Given the description of an element on the screen output the (x, y) to click on. 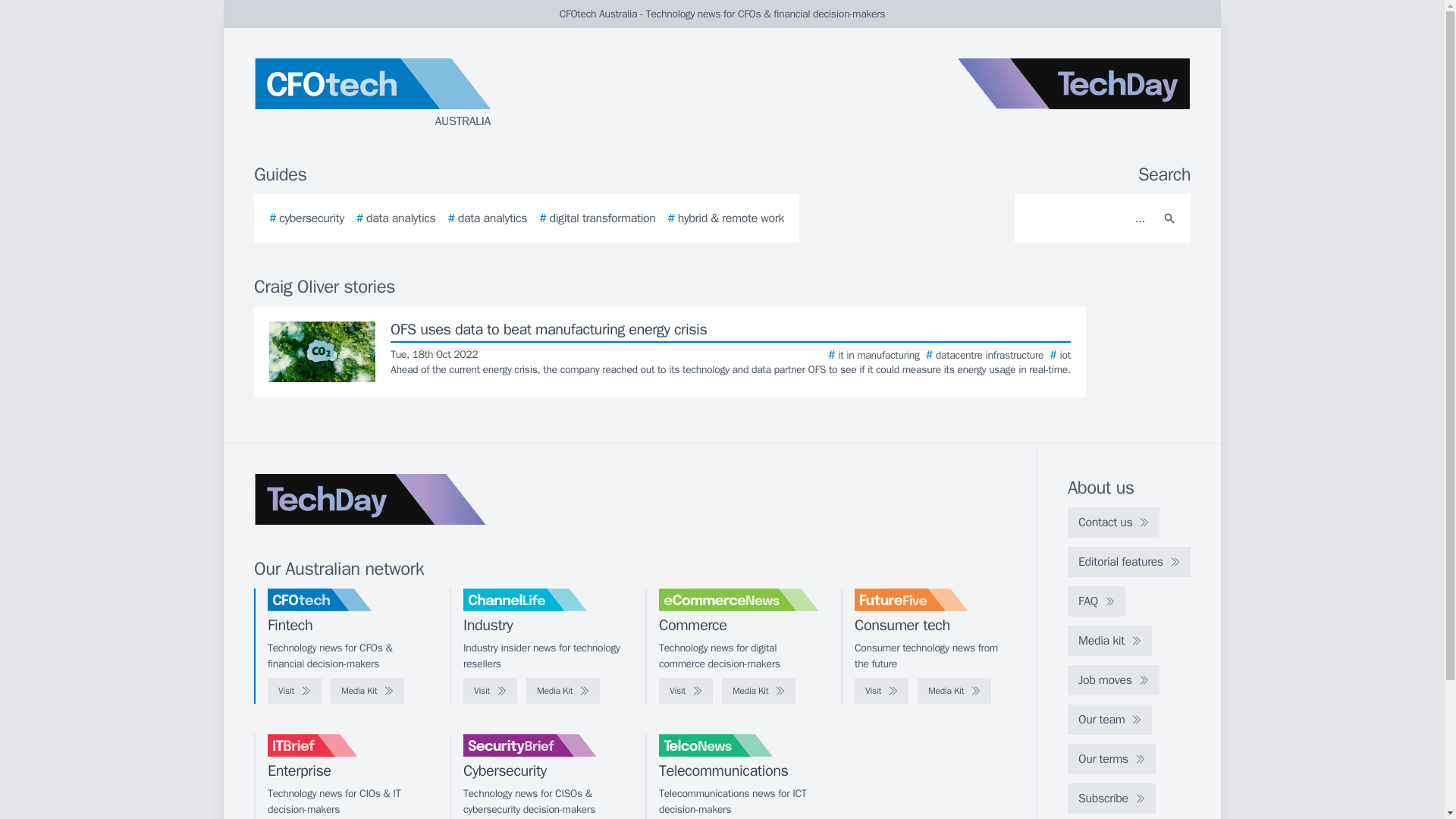
Visit (686, 690)
Media Kit (367, 690)
AUSTRALIA (435, 94)
Visit (489, 690)
Visit (881, 690)
Contact us (1112, 521)
Visit (294, 690)
Media Kit (954, 690)
Editorial features (1129, 562)
Job moves (1112, 680)
